Given the description of an element on the screen output the (x, y) to click on. 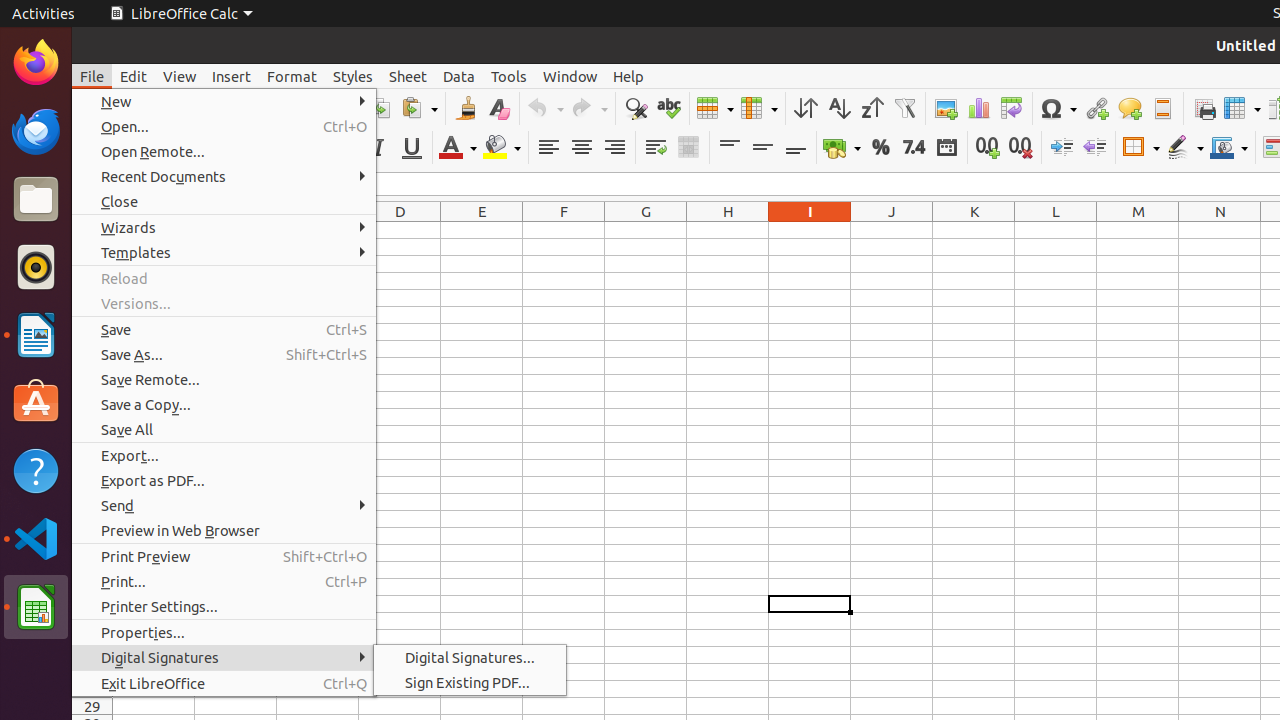
Border Style Element type: push-button (1185, 147)
Edit Element type: menu (133, 76)
Headers and Footers Element type: push-button (1162, 108)
Exit LibreOffice Element type: menu-item (224, 683)
AutoFilter Element type: push-button (904, 108)
